Given the description of an element on the screen output the (x, y) to click on. 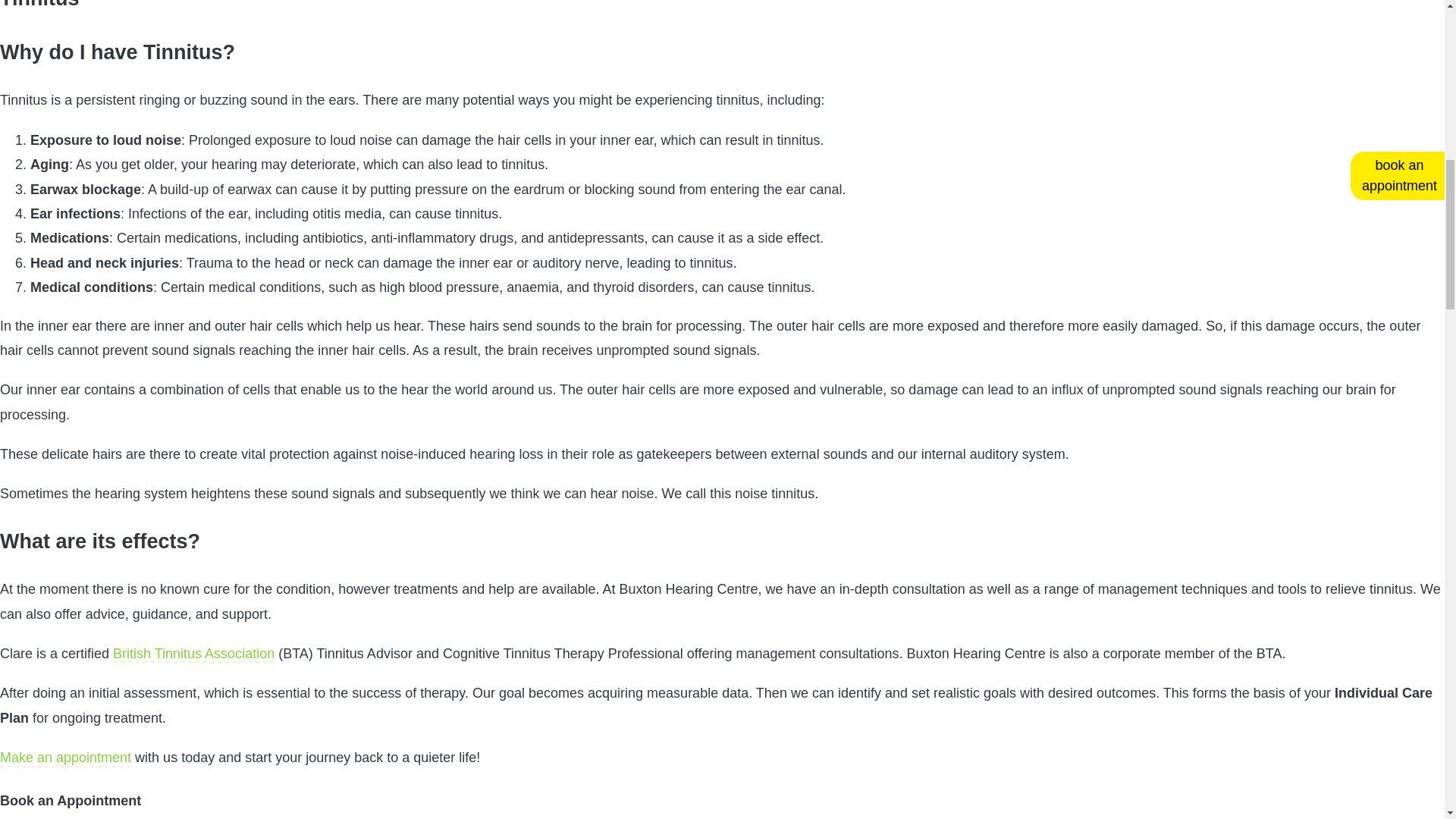
British Tinnitus Association (194, 653)
Make an appointment (65, 757)
